Given the description of an element on the screen output the (x, y) to click on. 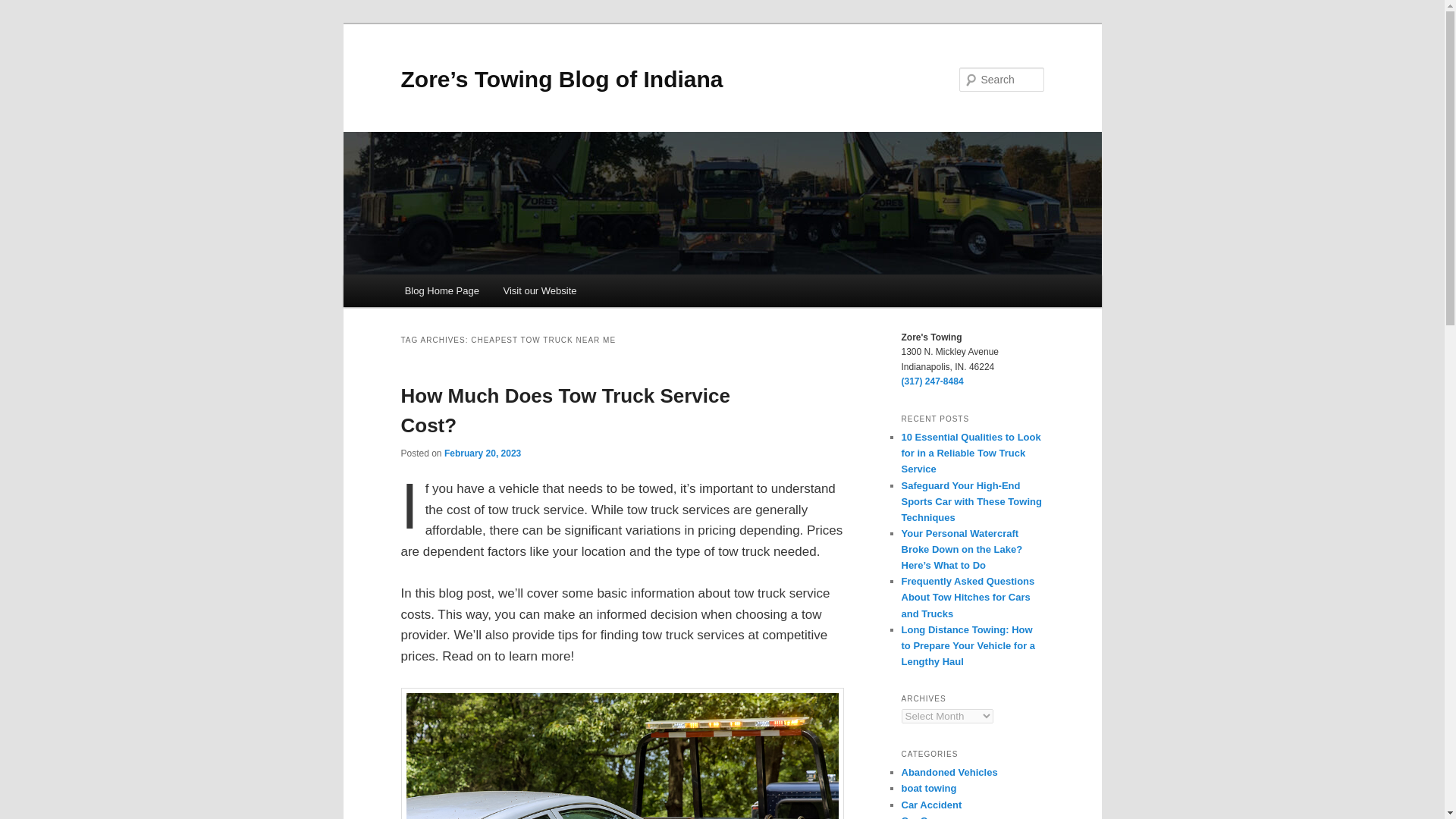
Search (24, 8)
Car Care (921, 816)
Abandoned Vehicles (949, 772)
11:47 am (482, 452)
Blog Home Page (442, 290)
February 20, 2023 (482, 452)
Car Accident (930, 804)
